Given the description of an element on the screen output the (x, y) to click on. 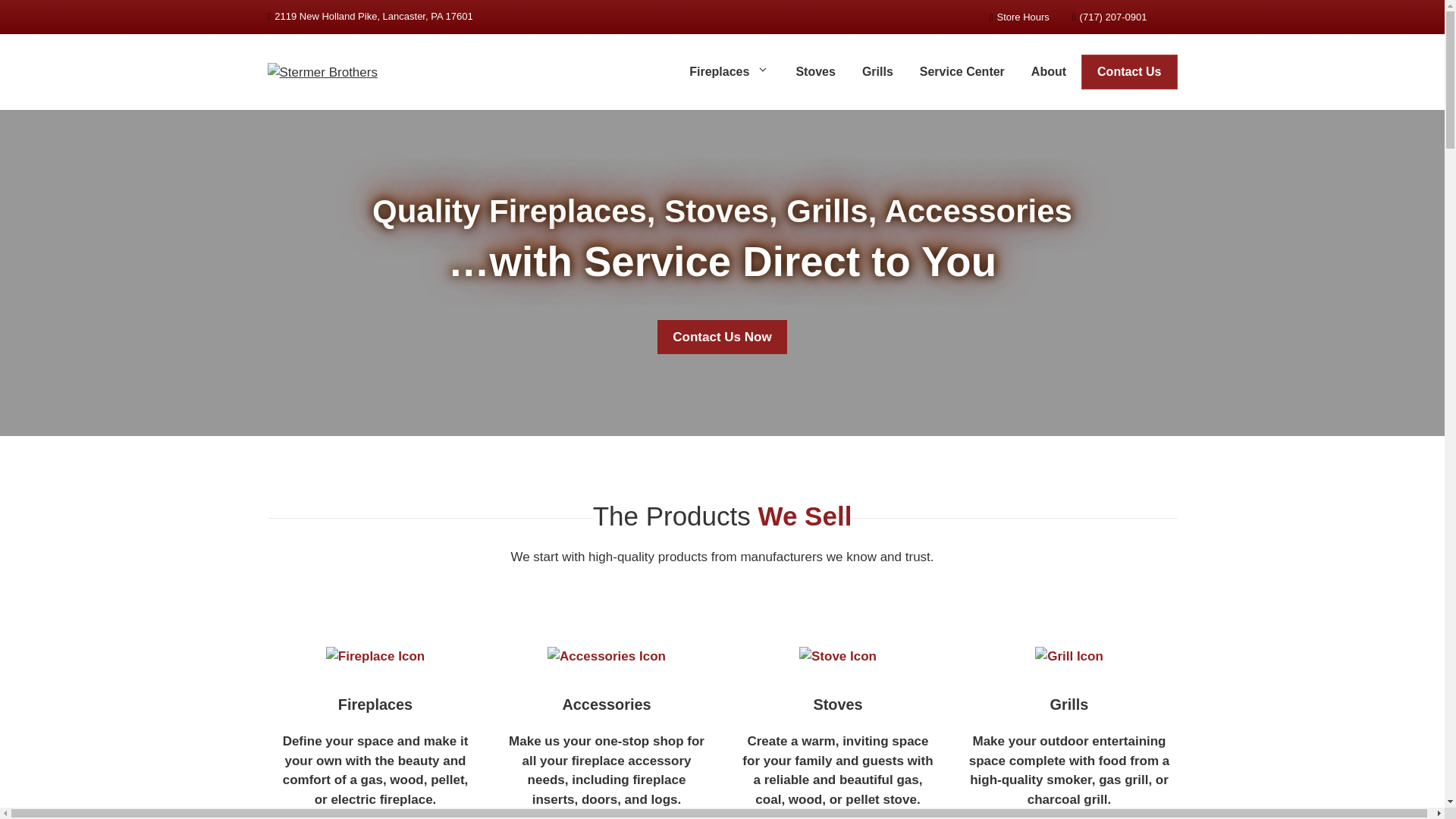
Contact Us (1128, 71)
About (1050, 72)
Contact Us Now (722, 337)
Fireplaces (731, 72)
Store Hours (1019, 16)
Stoves (817, 72)
2119 New Holland Pike, Lancaster, PA 17601 (368, 16)
